Given the description of an element on the screen output the (x, y) to click on. 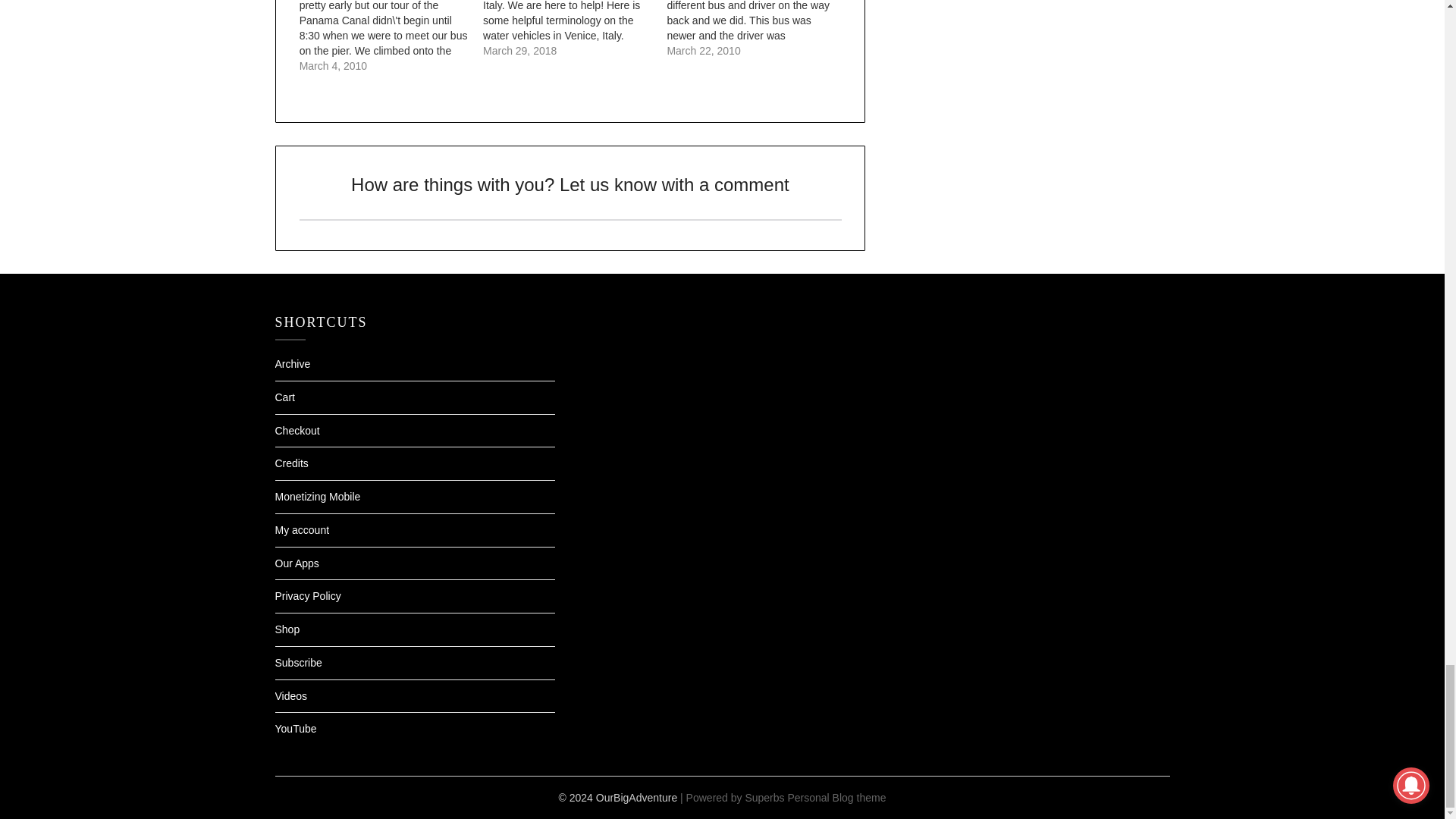
Getting Around Venice, Italy (574, 29)
Crossing Panama by Bus (758, 29)
